Given the description of an element on the screen output the (x, y) to click on. 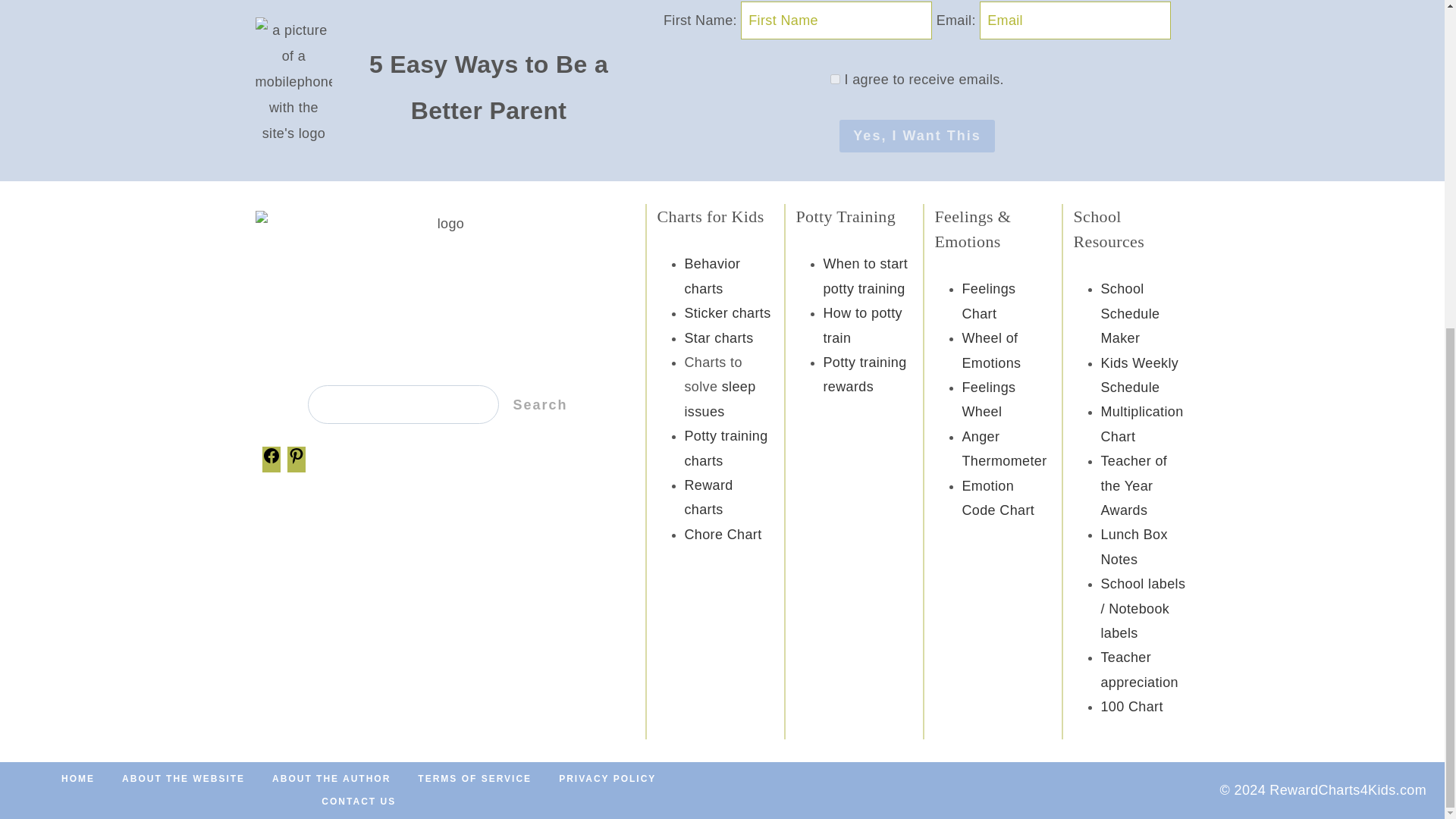
1 (834, 79)
